Given the description of an element on the screen output the (x, y) to click on. 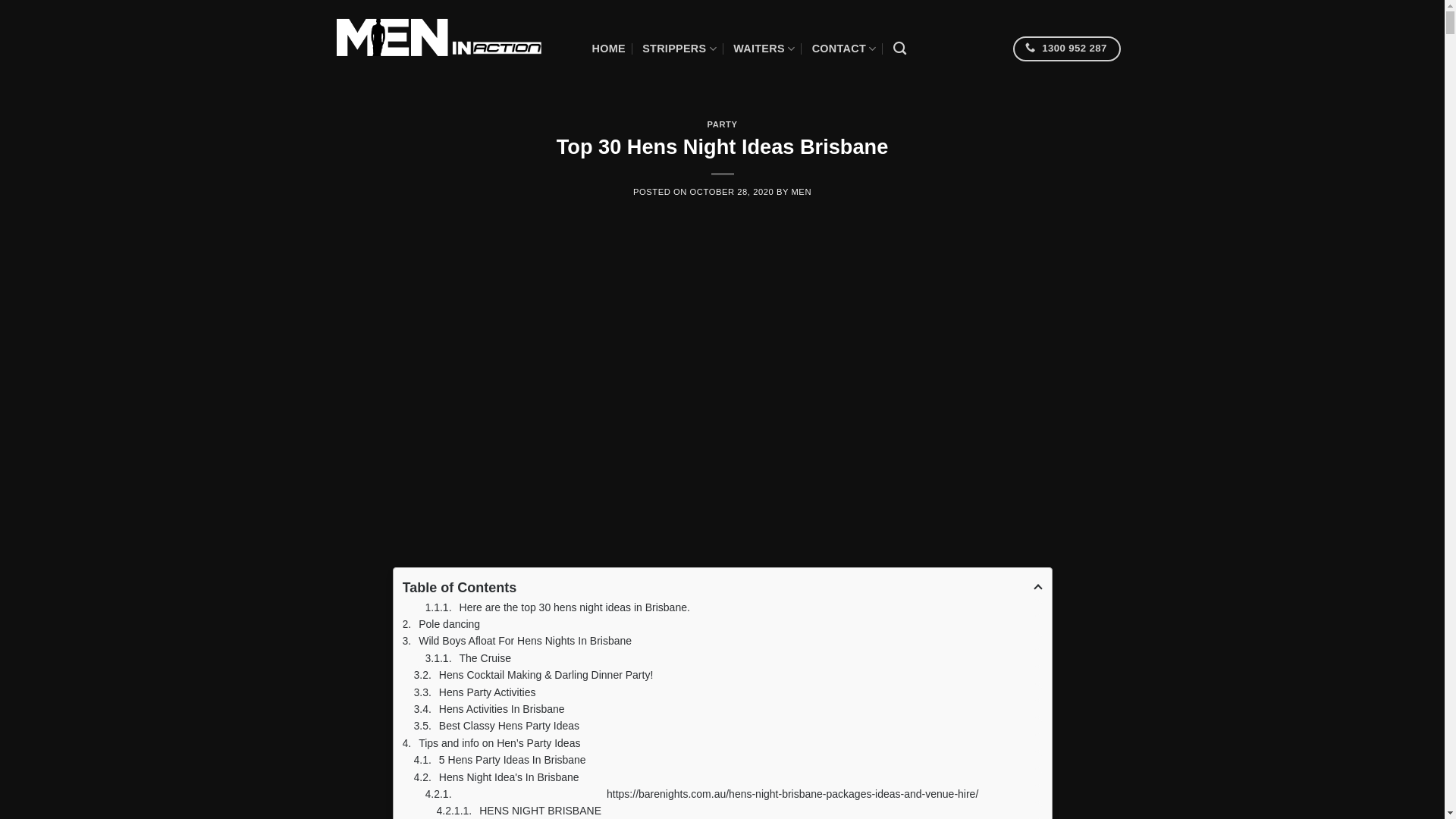
Hens Party Activities Element type: text (728, 692)
WAITERS Element type: text (763, 48)
CONTACT Element type: text (844, 48)
Hens Night Idea's In Brisbane Element type: text (728, 776)
Hens Activities In Brisbane Element type: text (728, 708)
Wild Boys Afloat For Hens Nights In Brisbane Element type: text (721, 640)
PARTY Element type: text (722, 123)
OCTOBER 28, 2020 Element type: text (732, 191)
Best Classy Hens Party Ideas Element type: text (728, 725)
Here are the top 30 hens night ideas in Brisbane. Element type: text (732, 607)
5 Hens Party Ideas In Brisbane Element type: text (728, 759)
The Cruise Element type: text (732, 657)
STRIPPERS Element type: text (679, 48)
MEN Element type: text (800, 191)
Hens Cocktail Making & Darling Dinner Party! Element type: text (728, 674)
Pole dancing Element type: text (721, 623)
1300 952 287 Element type: text (1066, 48)
HOME Element type: text (607, 48)
